Given the description of an element on the screen output the (x, y) to click on. 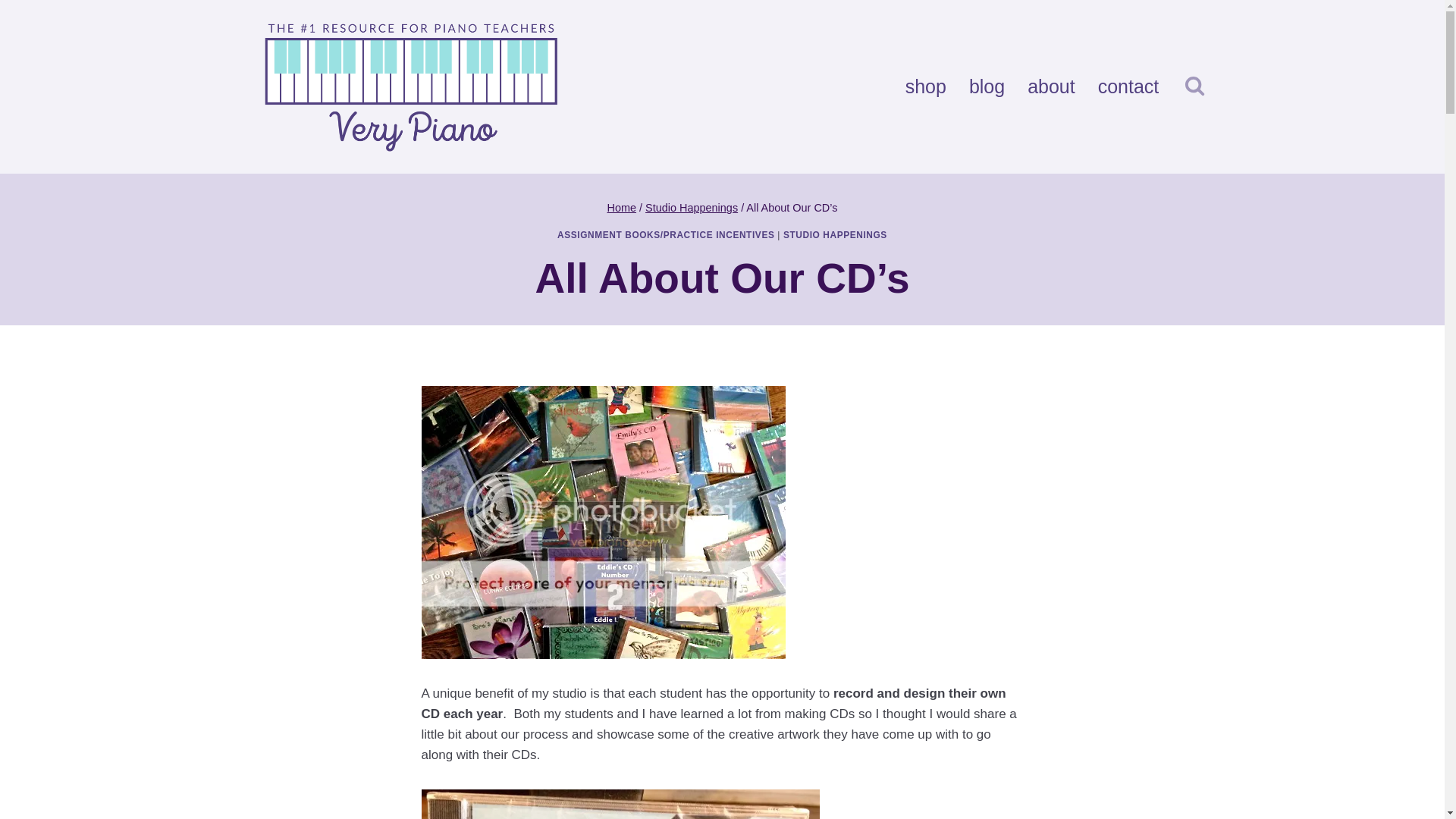
contact (1128, 86)
Studio Happenings (691, 207)
about (1051, 86)
Home (622, 207)
STUDIO HAPPENINGS (834, 235)
blog (987, 86)
shop (925, 86)
